Given the description of an element on the screen output the (x, y) to click on. 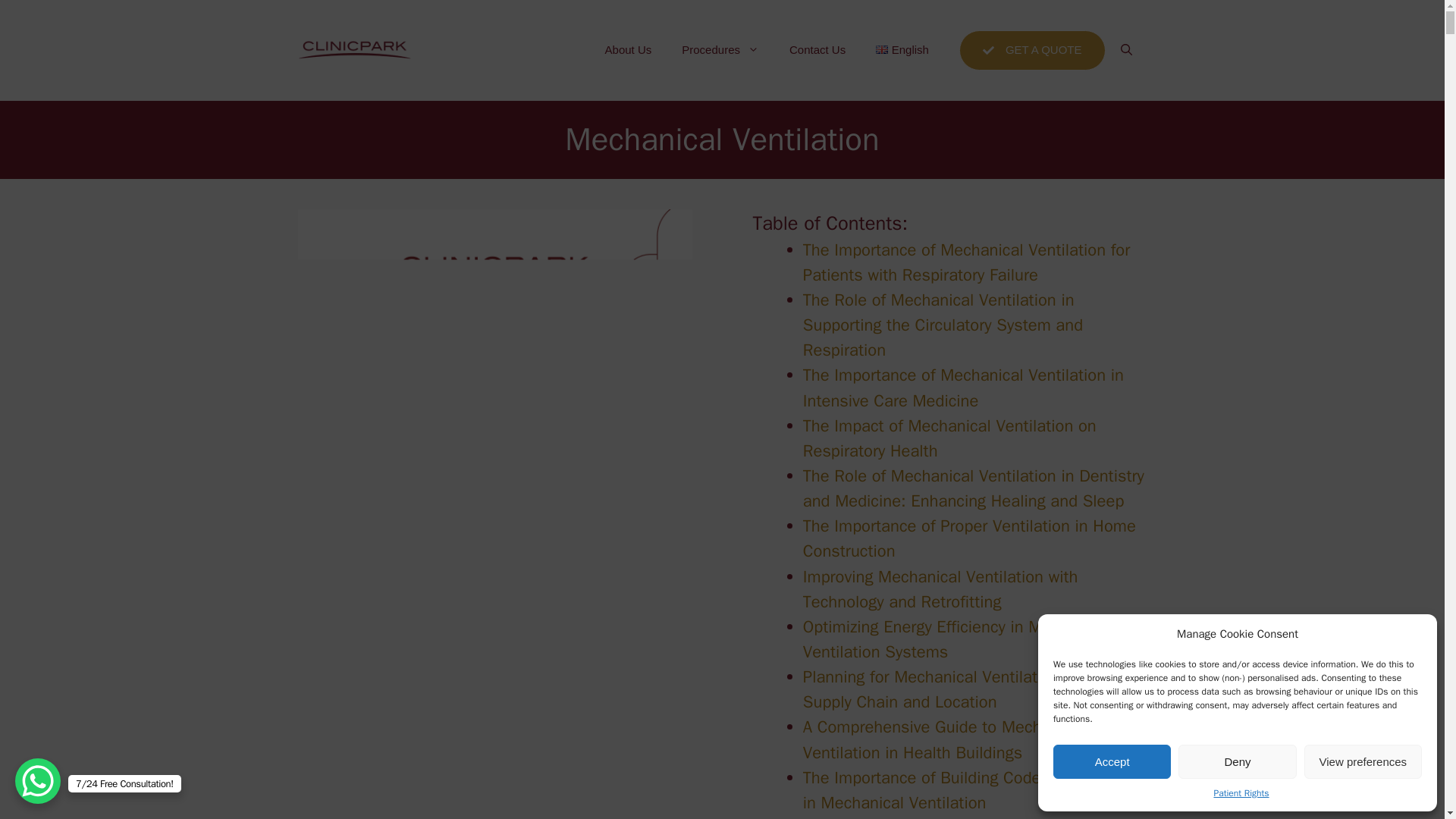
About Us (627, 49)
Procedures (720, 49)
GET A QUOTE (1032, 50)
View preferences (1363, 761)
Patient Rights (1240, 793)
English (901, 49)
Contact Us (817, 49)
Deny (1236, 761)
Accept (1111, 761)
